Given the description of an element on the screen output the (x, y) to click on. 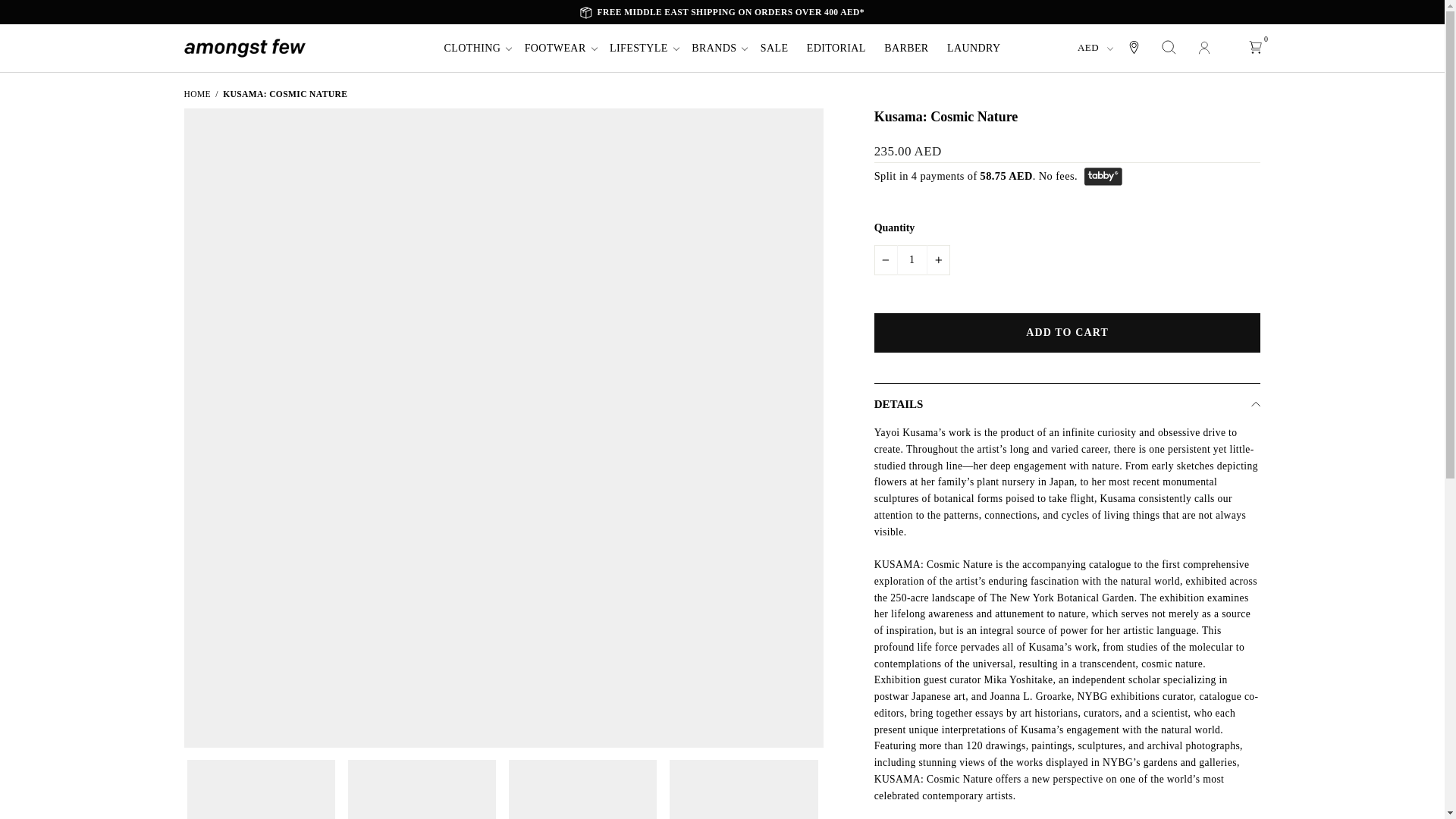
1 (912, 259)
amongst few on Facebook (1254, 12)
Back to the frontpage (196, 93)
amongst few on Instagram (1226, 12)
